Given the description of an element on the screen output the (x, y) to click on. 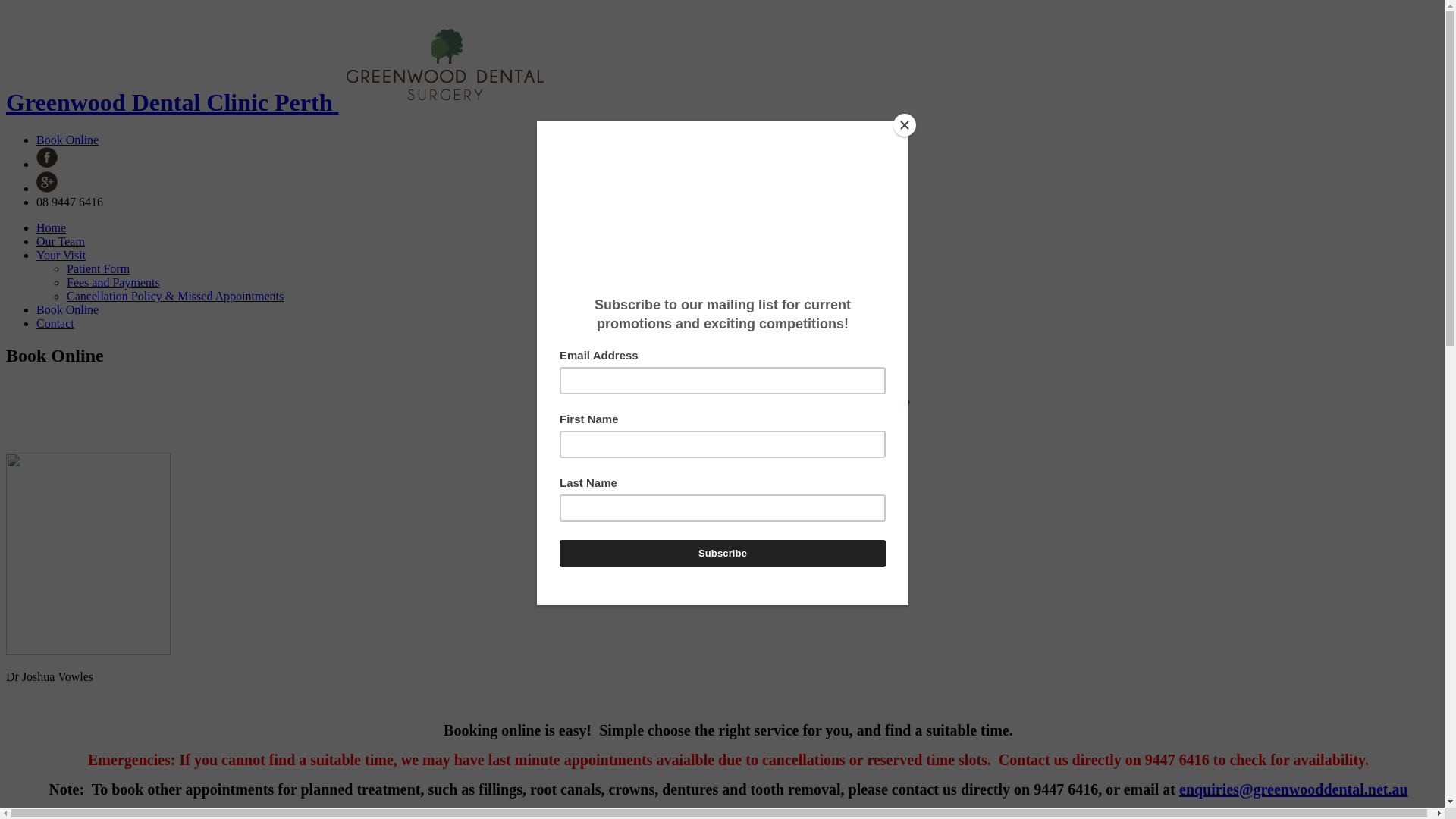
Book Online Element type: text (67, 139)
Fees and Payments Element type: text (113, 282)
Your Visit Element type: text (60, 254)
Home Element type: text (50, 227)
Contact Element type: text (55, 322)
Book Online Element type: text (67, 309)
Cancellation Policy & Missed Appointments Element type: text (174, 295)
enquiries@greenwooddental.net.au Element type: text (1293, 789)
Like Greenwood Dental on Facebook Element type: hover (46, 163)
Connect with Greenwood Dental on Google+ Element type: hover (46, 188)
Our Team Element type: text (60, 241)
Greenwood Dental Clinic Perth Element type: text (278, 102)
Patient Form Element type: text (97, 268)
